Given the description of an element on the screen output the (x, y) to click on. 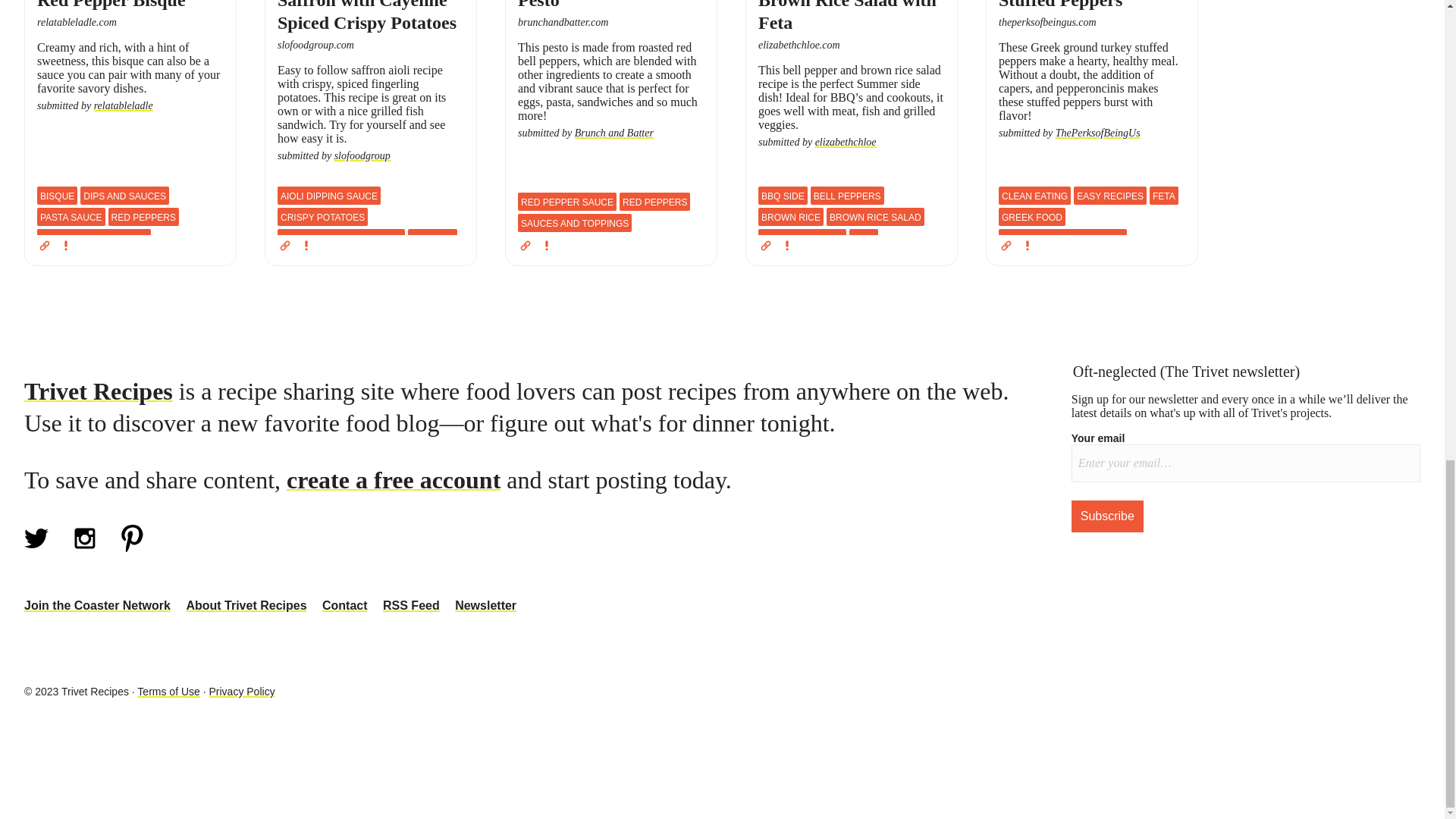
twitter logo (36, 538)
follow us on Instagram (84, 547)
